Given the description of an element on the screen output the (x, y) to click on. 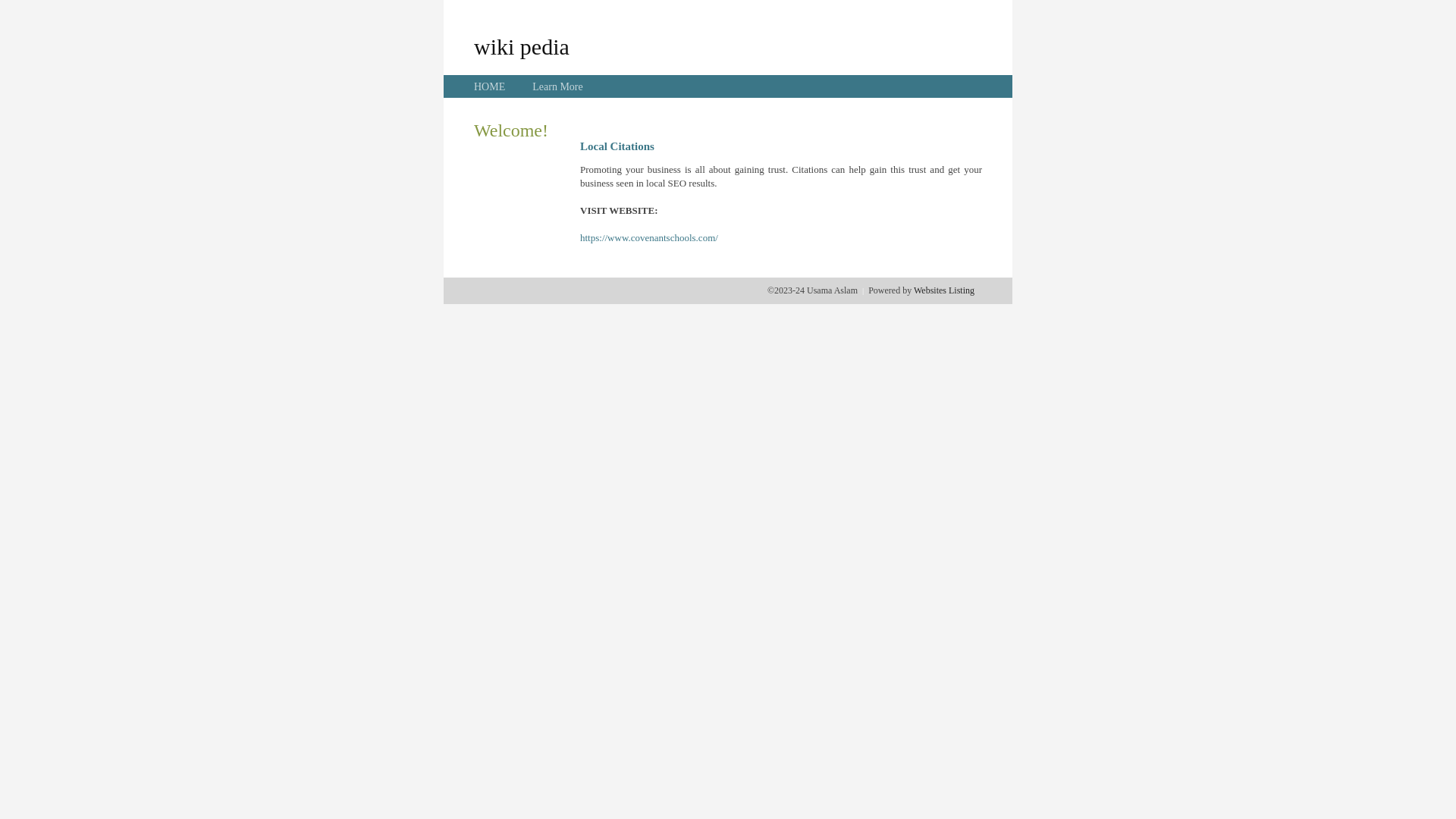
Websites Listing Element type: text (943, 290)
Learn More Element type: text (557, 86)
HOME Element type: text (489, 86)
wiki pedia Element type: text (521, 46)
https://www.covenantschools.com/ Element type: text (649, 237)
